Given the description of an element on the screen output the (x, y) to click on. 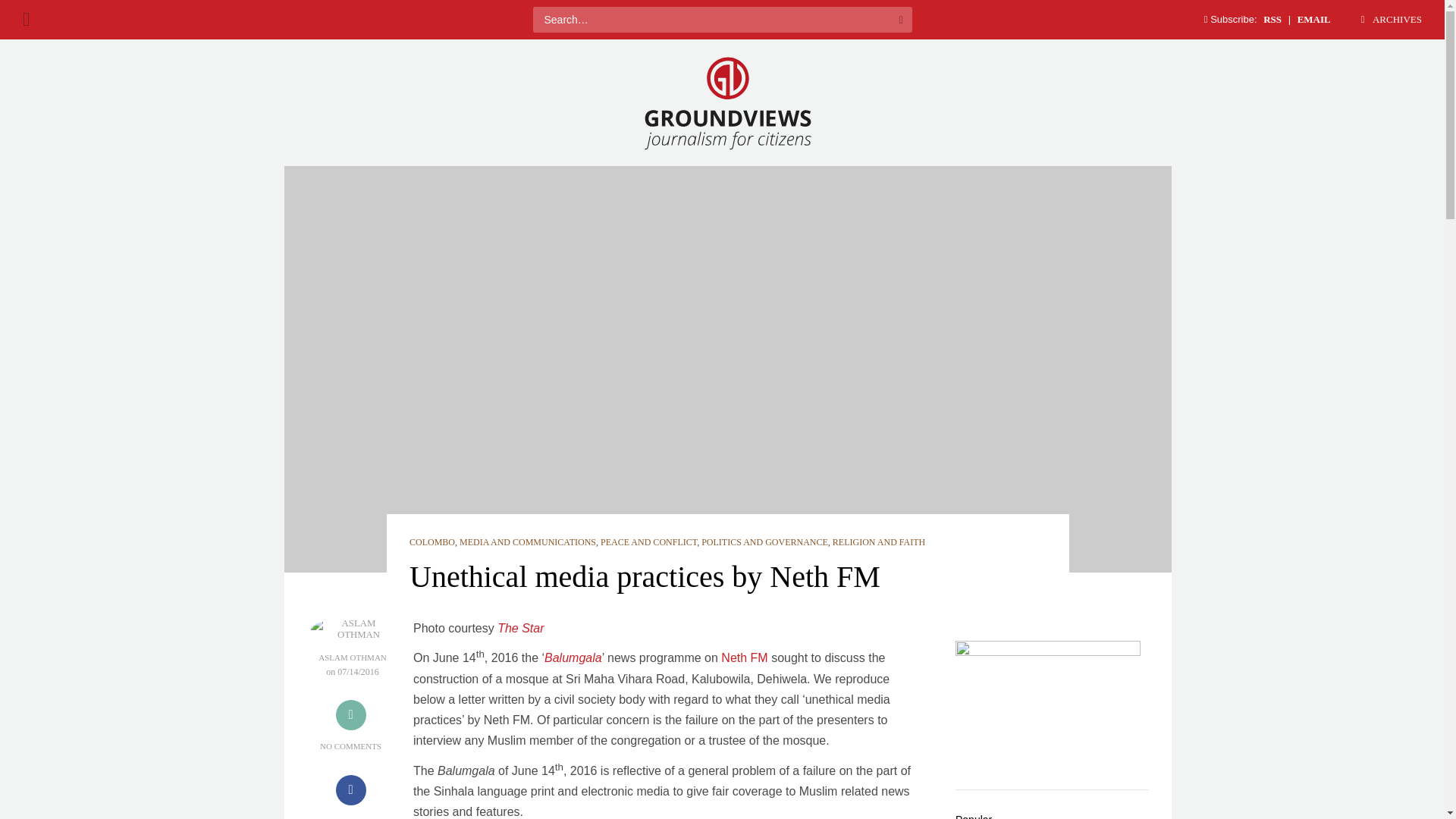
Unethical media practices by Neth FM (644, 576)
COLOMBO (431, 542)
Balumgala (573, 658)
Neth FM (743, 658)
Search (900, 19)
MEDIA AND COMMUNICATIONS (527, 542)
ASLAM OTHMAN (352, 657)
NO COMMENTS (350, 746)
The Star (520, 627)
ARCHIVES (1389, 19)
Unethical media practices by Neth FM (644, 576)
POLITICS AND GOVERNANCE (764, 542)
RSS (1272, 19)
EMAIL (1314, 19)
PEACE AND CONFLICT (648, 542)
